Given the description of an element on the screen output the (x, y) to click on. 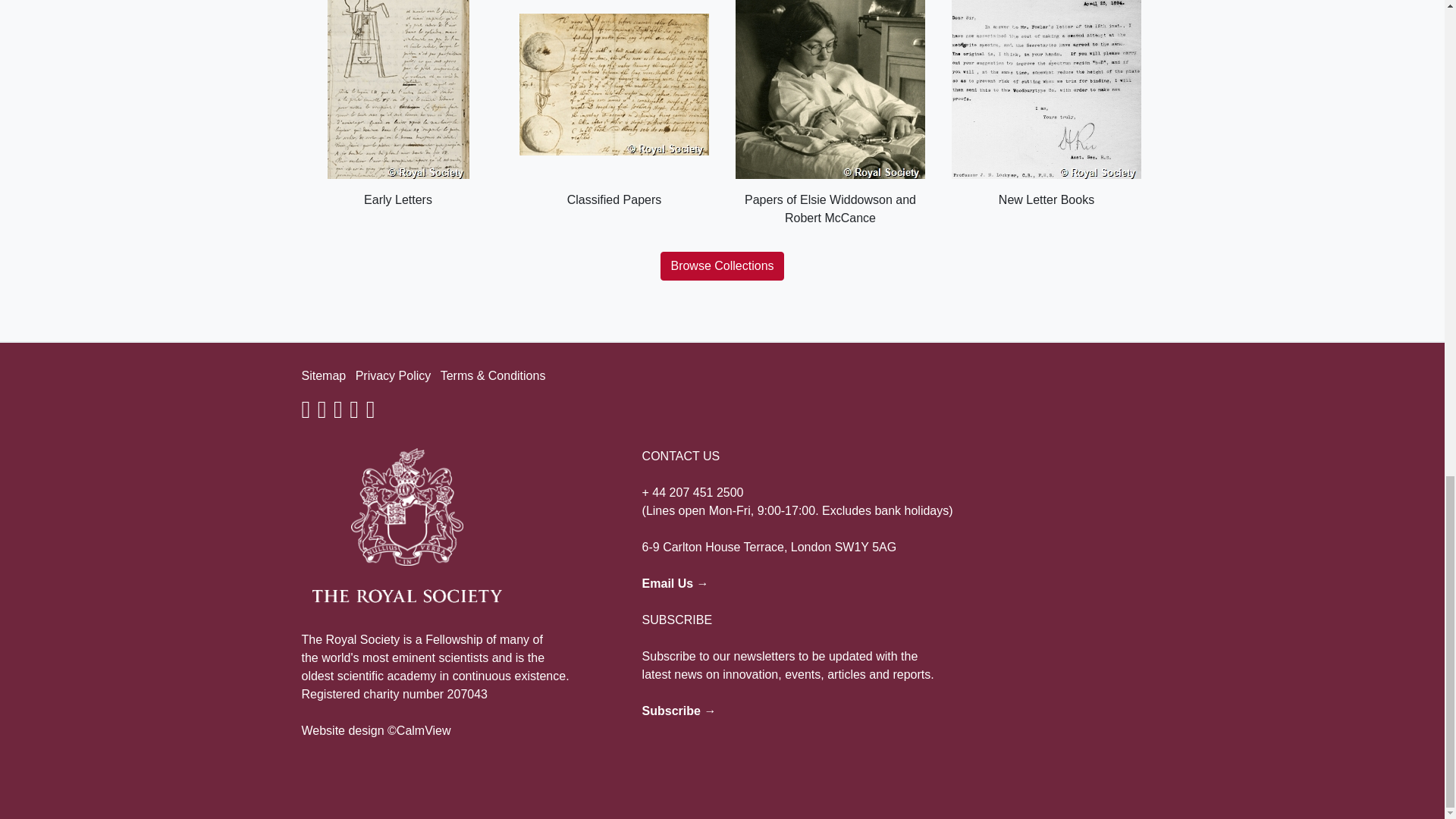
Classified Papers (613, 104)
Early Letters (398, 104)
New Letter Books (1045, 104)
Privacy Policy (392, 375)
Sitemap (323, 375)
Browse Collections (722, 265)
